Given the description of an element on the screen output the (x, y) to click on. 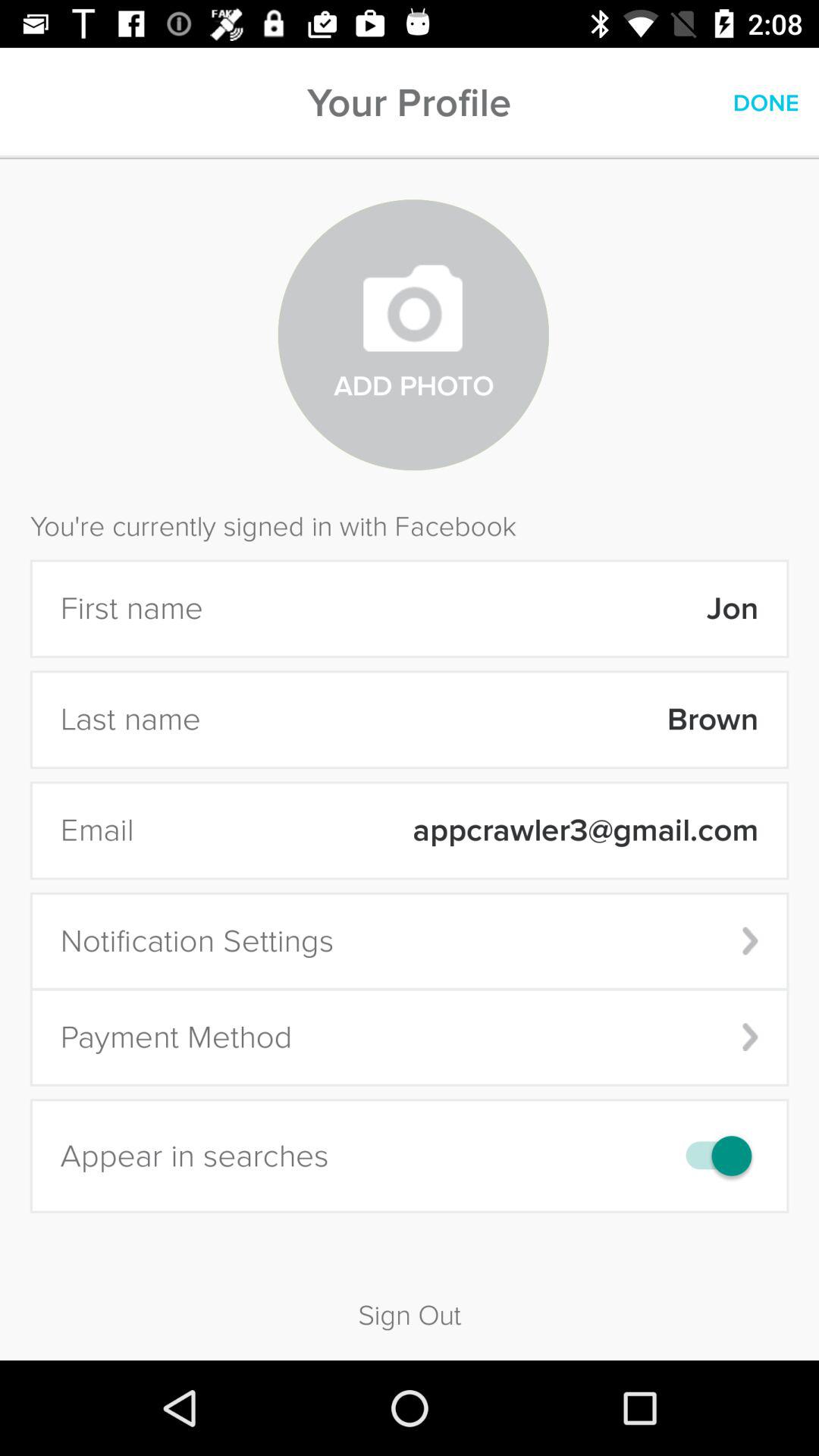
launch appcrawler3@gmail.com (455, 830)
